Given the description of an element on the screen output the (x, y) to click on. 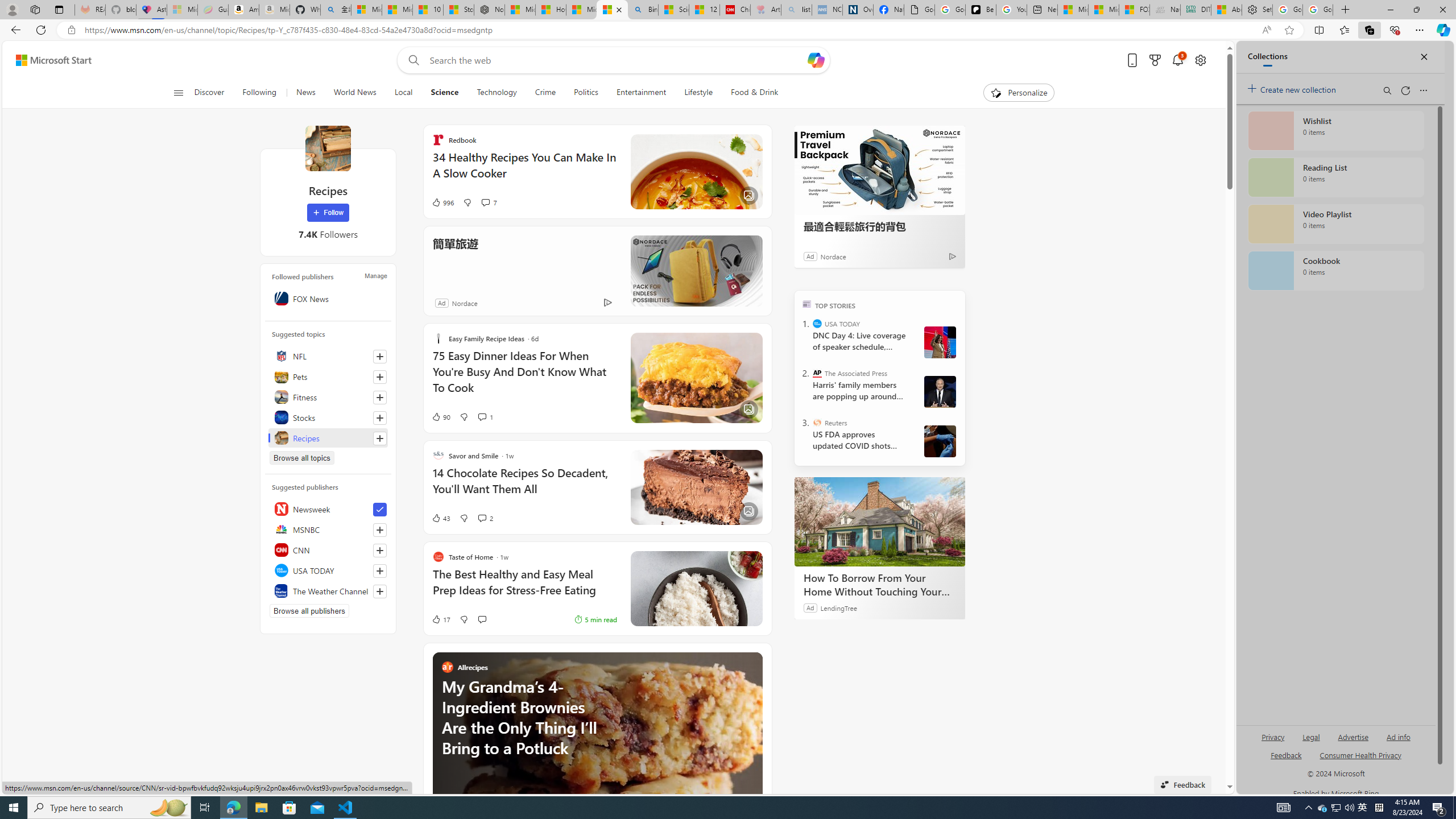
LendingTree (838, 607)
Follow this topic (379, 438)
34 Healthy Recipes You Can Make In A Slow Cooker (524, 171)
